Given the description of an element on the screen output the (x, y) to click on. 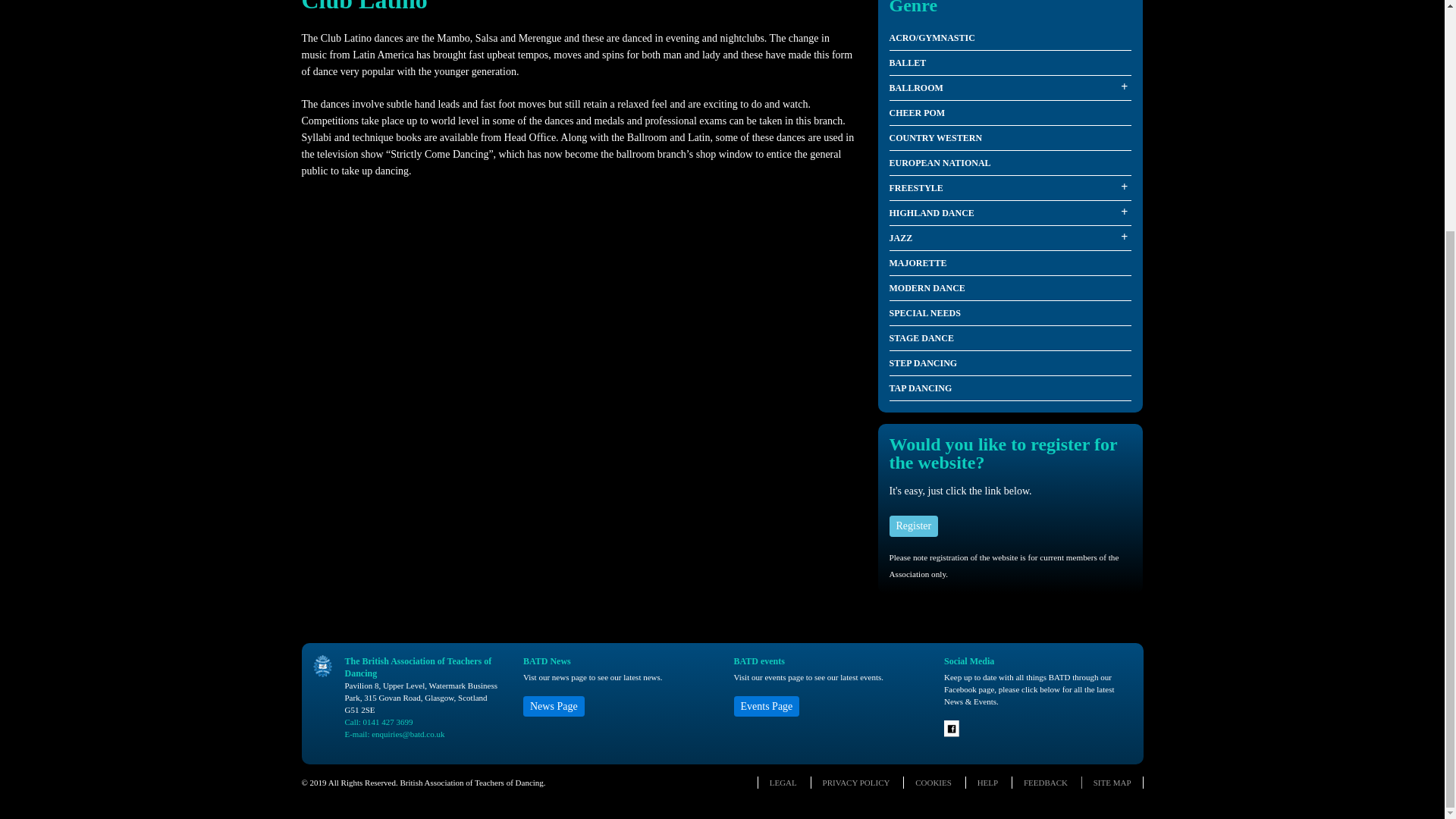
EUROPEAN NATIONAL (1009, 163)
The-British-Association-of-Teachers-of-Dancing - Facebook (951, 733)
JAZZ (1009, 238)
COUNTRY WESTERN (1009, 138)
BALLROOM (1009, 88)
FREESTYLE (1009, 188)
SPECIAL NEEDS (1009, 313)
HIGHLAND DANCE (1009, 213)
TAP DANCING (1009, 388)
BALLET (1009, 63)
STAGE DANCE (1009, 338)
MODERN DANCE (1009, 288)
Register (912, 526)
CHEER POM (1009, 113)
MAJORETTE (1009, 263)
